Given the description of an element on the screen output the (x, y) to click on. 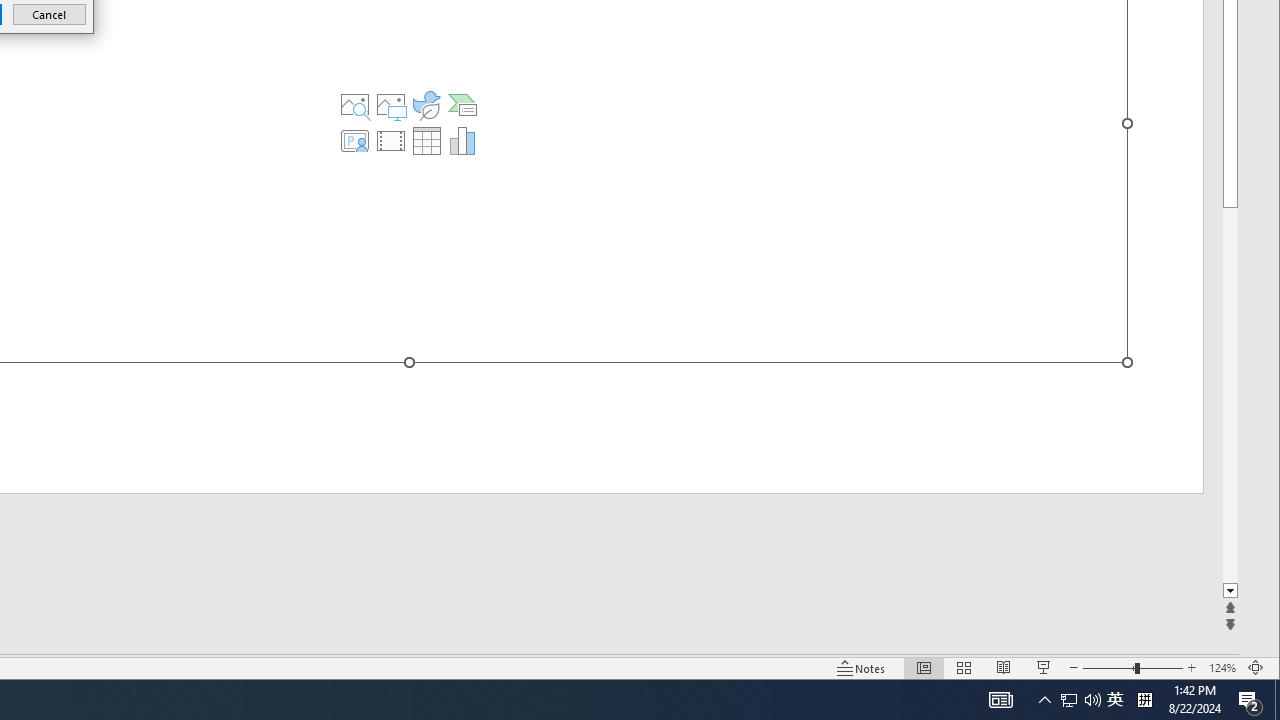
Insert Video (391, 140)
Zoom 124% (1222, 668)
Insert Chart (462, 140)
Insert a SmartArt Graphic (462, 104)
